Given the description of an element on the screen output the (x, y) to click on. 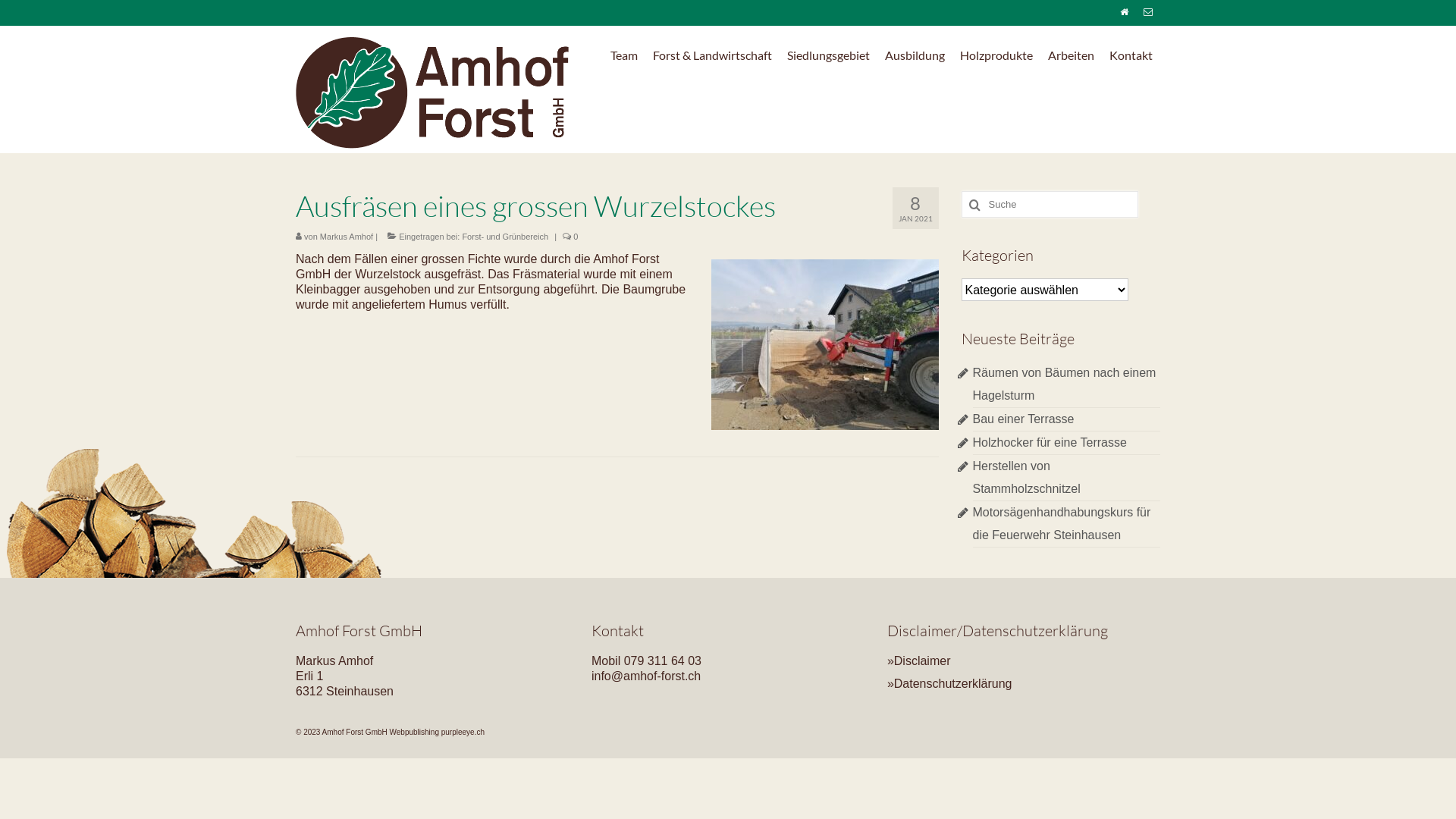
Arbeiten Element type: text (1070, 54)
info@amhof-forst.ch Element type: text (645, 675)
Markus Amhof Element type: text (346, 236)
Siedlungsgebiet Element type: text (828, 54)
Bau einer Terrasse Element type: text (1022, 418)
Kontakt Element type: text (1130, 54)
Ausbildung Element type: text (914, 54)
Team Element type: text (623, 54)
purpleeye.ch Element type: text (462, 732)
Holzprodukte Element type: text (996, 54)
Forst & Landwirtschaft Element type: text (712, 54)
Herstellen von Stammholzschnitzel Element type: text (1025, 477)
